Given the description of an element on the screen output the (x, y) to click on. 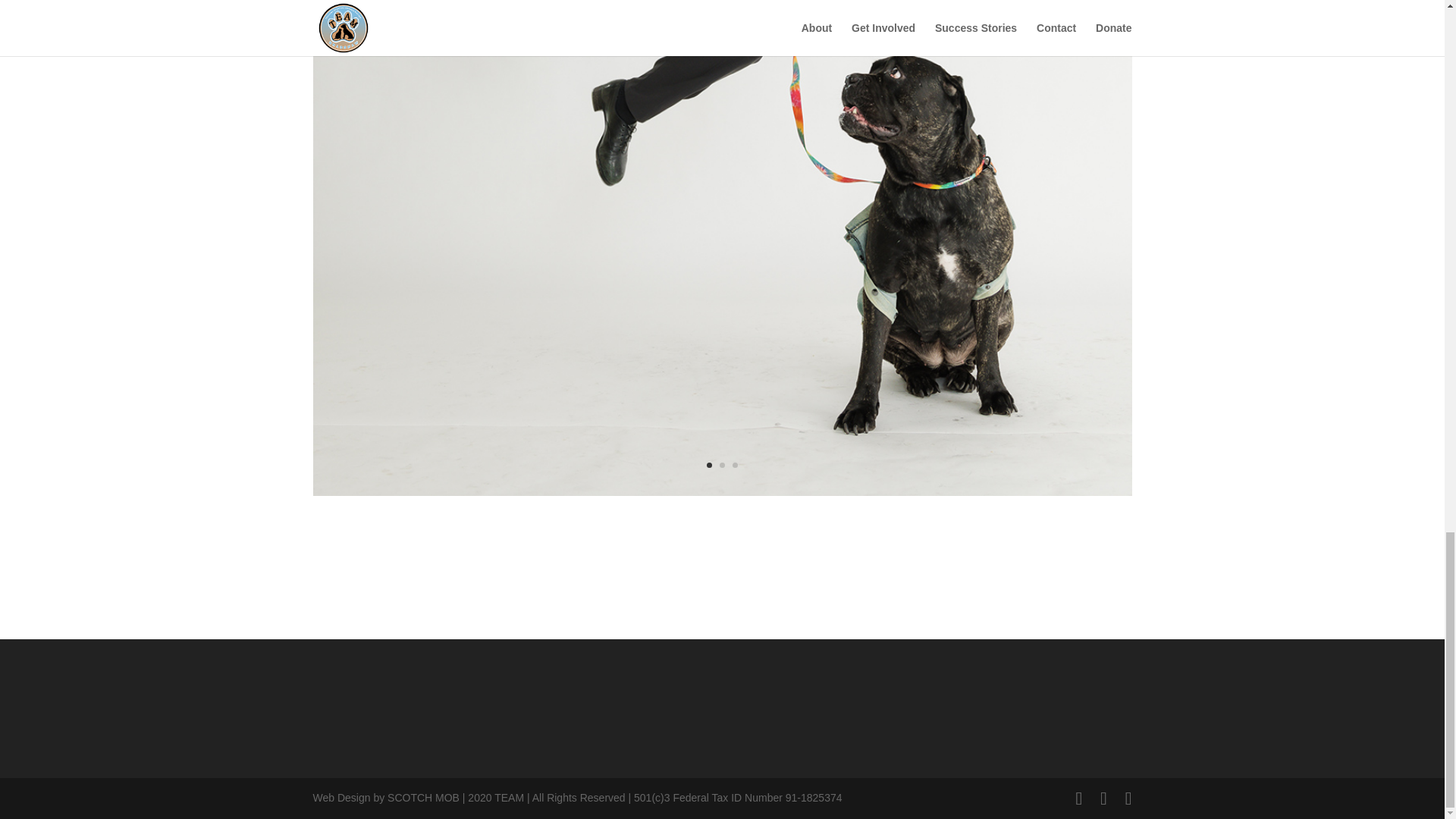
BMYK0987 (722, 495)
